Given the description of an element on the screen output the (x, y) to click on. 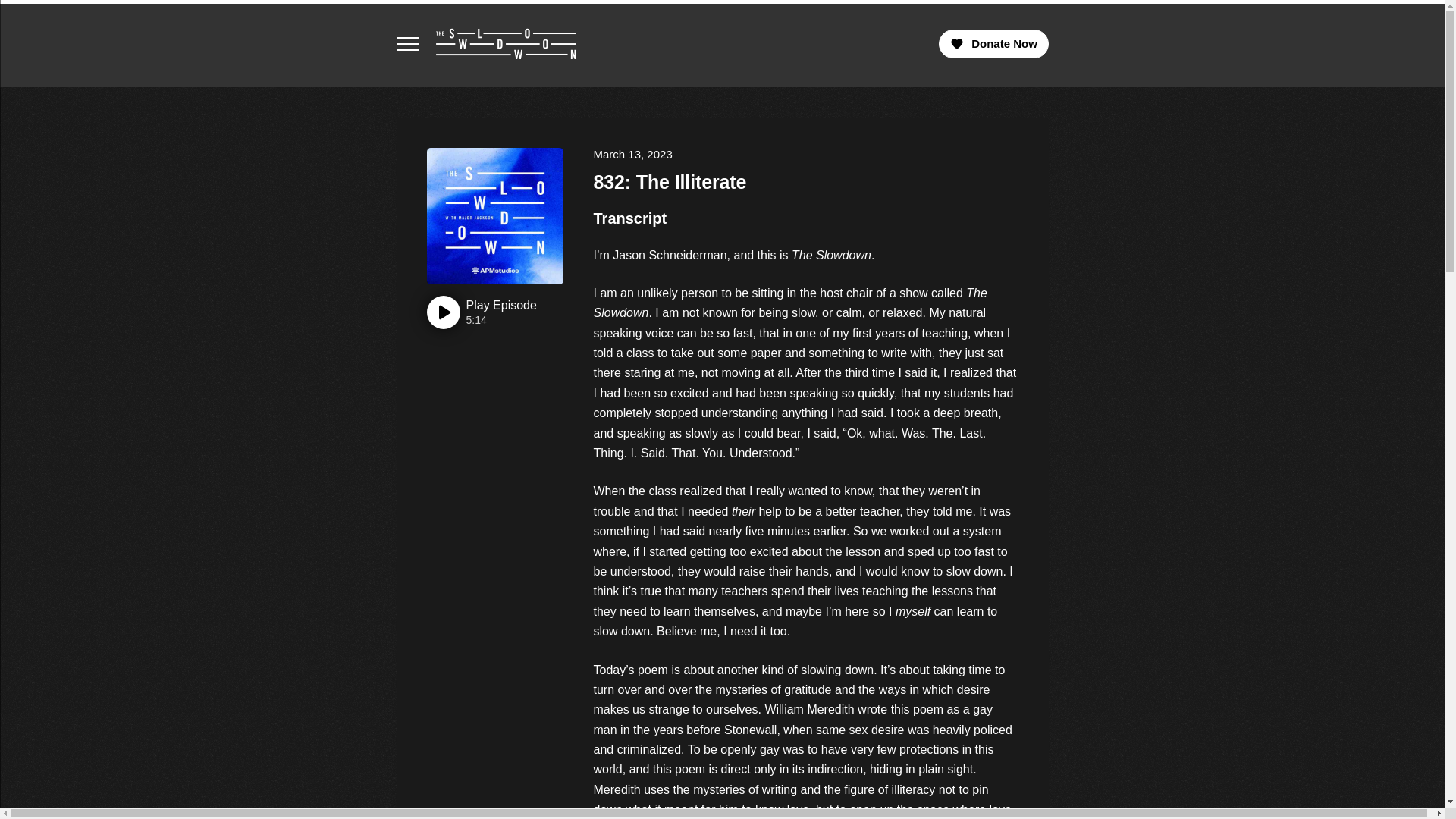
Donate Now (480, 312)
